Given the description of an element on the screen output the (x, y) to click on. 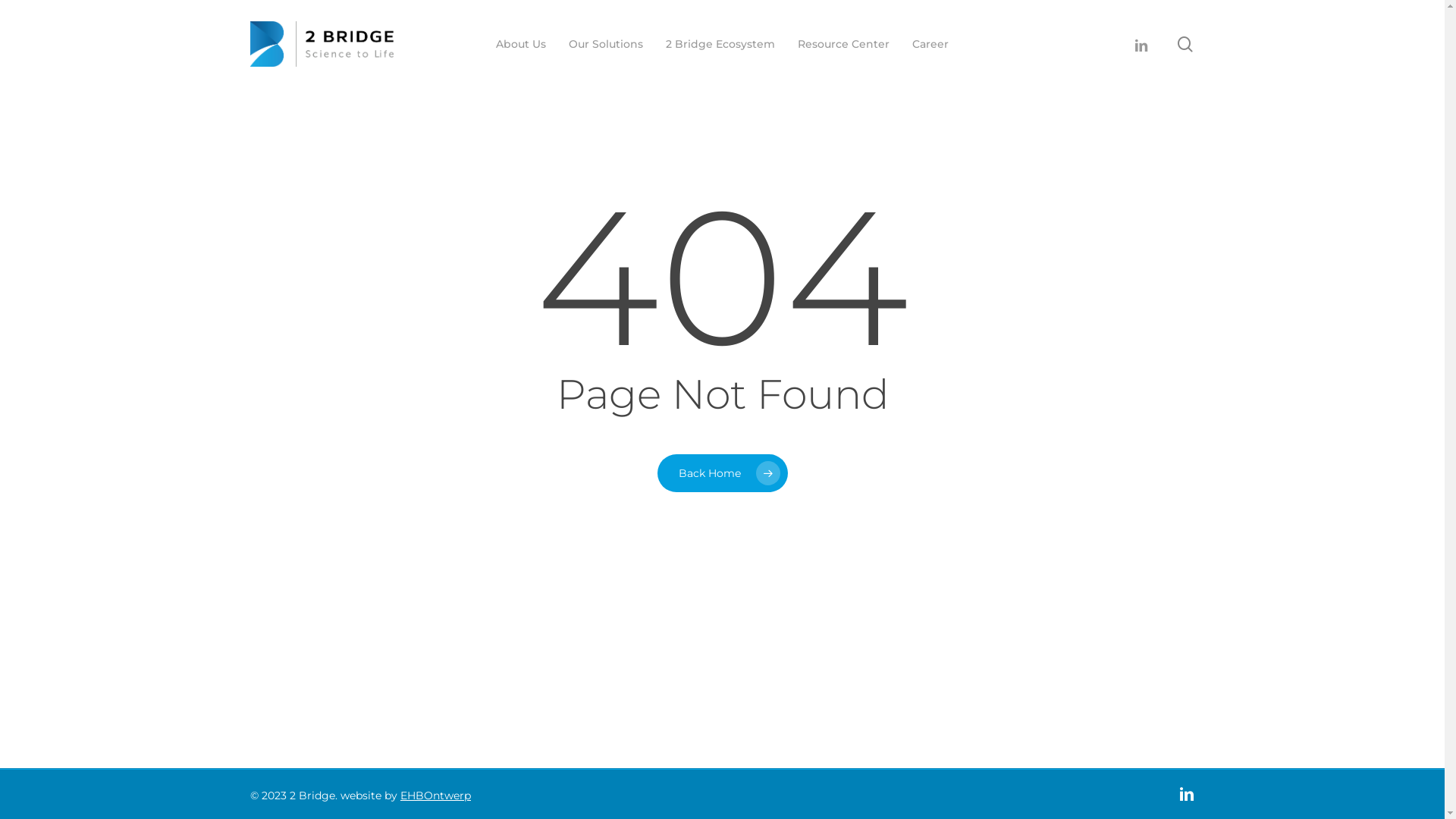
About Us Element type: text (520, 43)
Career Element type: text (930, 43)
Back Home Element type: text (721, 472)
Resource Center Element type: text (843, 43)
linkedin Element type: text (1140, 43)
Our Solutions Element type: text (605, 43)
search Element type: text (1185, 44)
linkedin Element type: text (1186, 793)
EHBOntwerp Element type: text (435, 795)
2 Bridge Ecosystem Element type: text (720, 43)
